Given the description of an element on the screen output the (x, y) to click on. 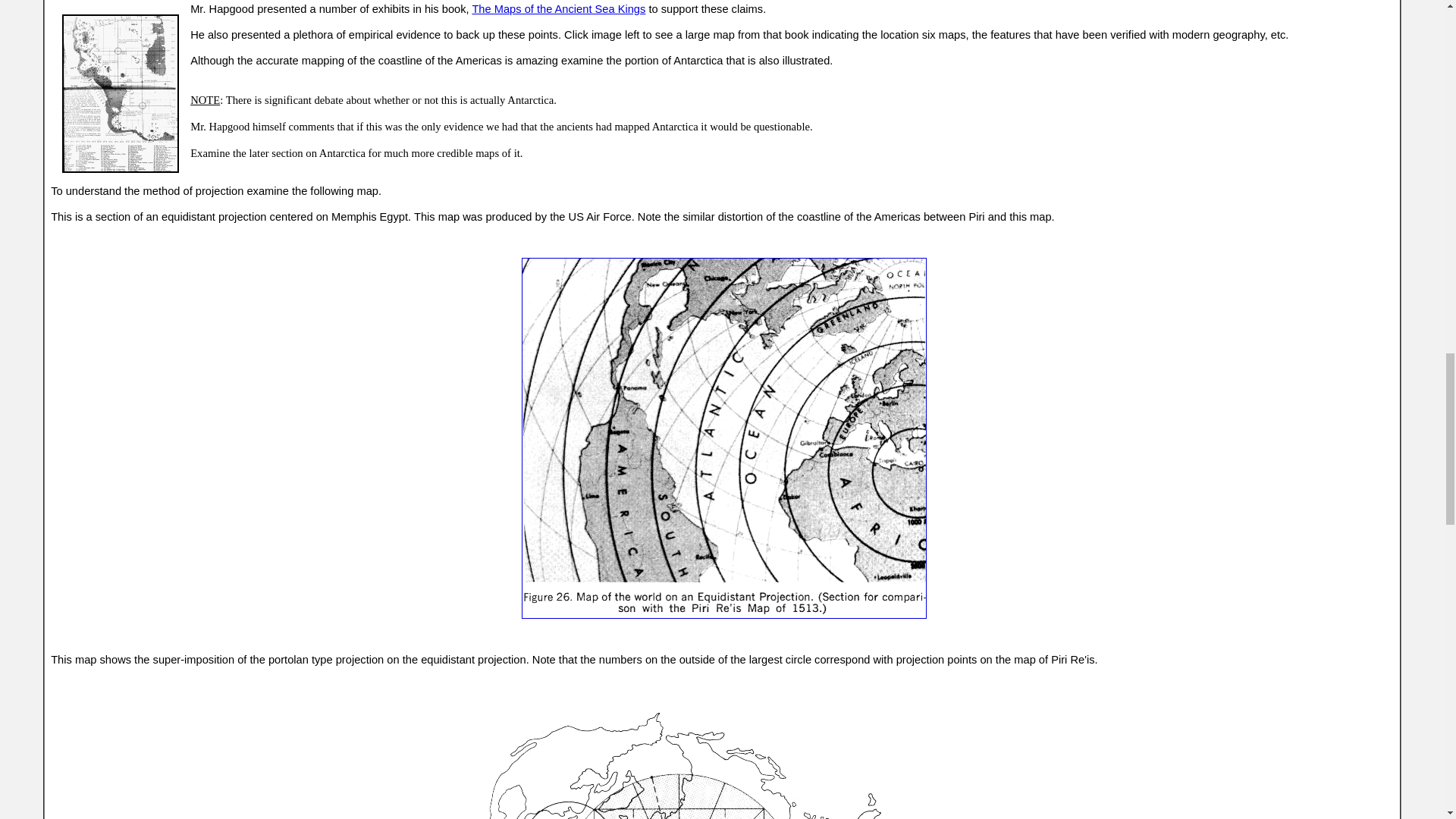
The Maps of the Ancient Sea Kings (558, 9)
